Given the description of an element on the screen output the (x, y) to click on. 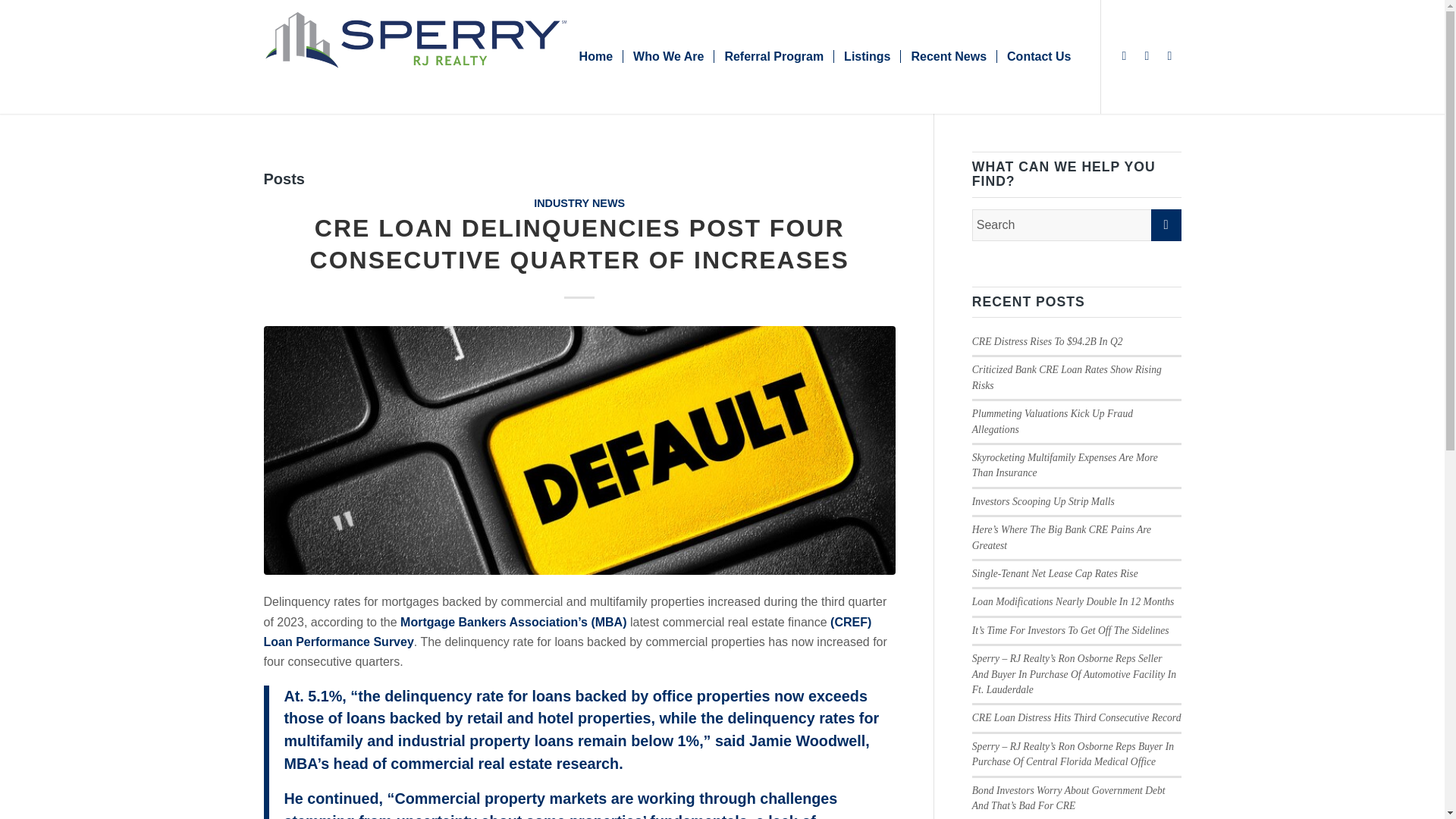
Criticized Bank CRE Loan Rates Show Rising Risks (1066, 376)
Contact Us (1037, 56)
Skyrocketing Multifamily Expenses Are More Than Insurance (1064, 465)
LinkedIn (1146, 56)
CRE Loan Distress Hits Third Consecutive Record (1076, 717)
Who We Are (668, 56)
Mail (1169, 56)
INDUSTRY NEWS (579, 203)
Referral Program (772, 56)
Investors Scooping Up Strip Malls (1043, 501)
Single-Tenant Net Lease Cap Rates Rise (1055, 573)
Facebook (1124, 56)
Loan Modifications Nearly Double In 12 Months (1073, 601)
